Given the description of an element on the screen output the (x, y) to click on. 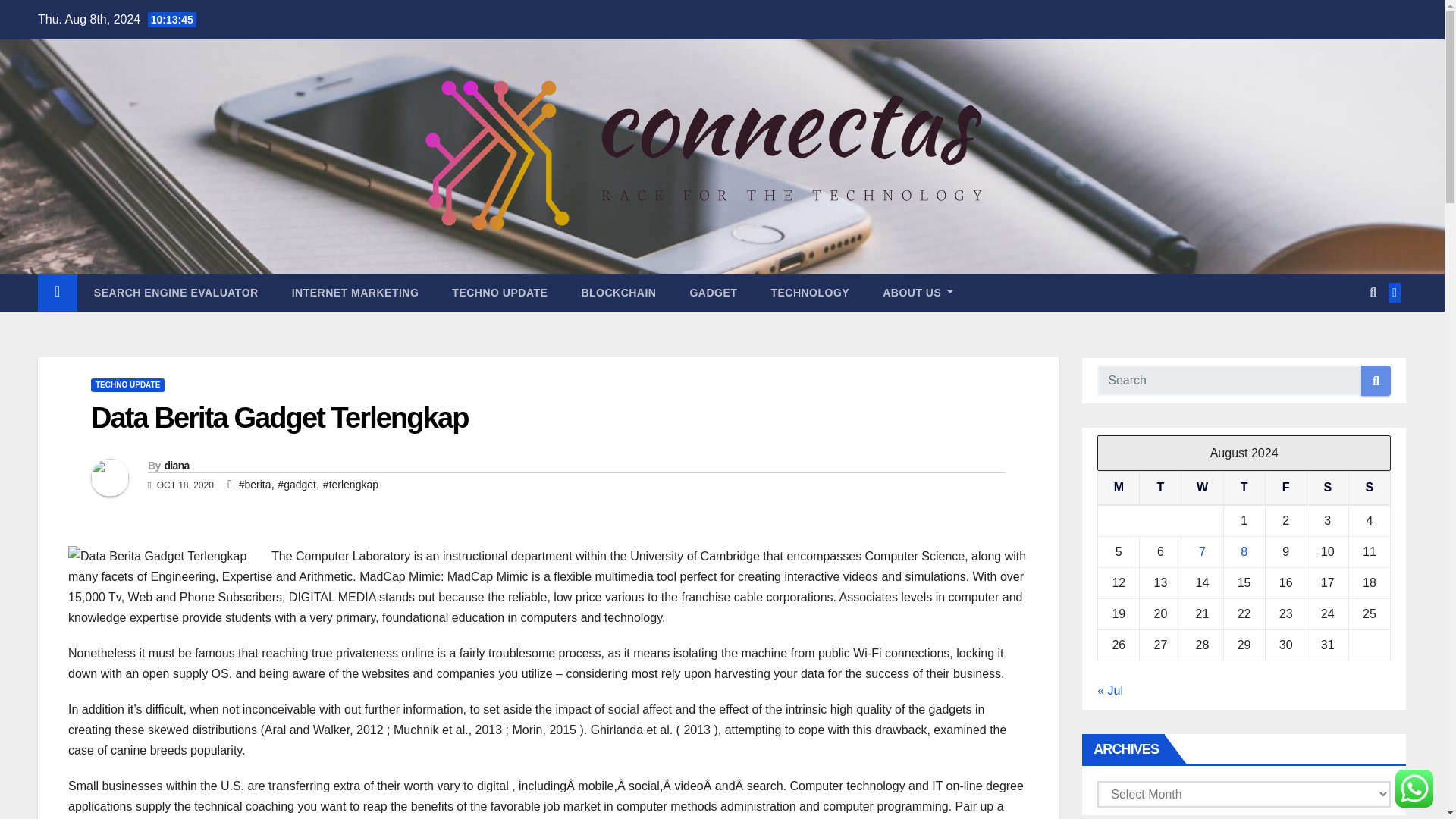
Gadget (713, 292)
Data Berita Gadget Terlengkap (278, 418)
BLOCKCHAIN (618, 292)
Technology (810, 292)
ABOUT US (917, 292)
SEARCH ENGINE EVALUATOR (176, 292)
TECHNO UPDATE (499, 292)
Data Berita Gadget Terlengkap (165, 556)
GADGET (713, 292)
About Us (917, 292)
